Given the description of an element on the screen output the (x, y) to click on. 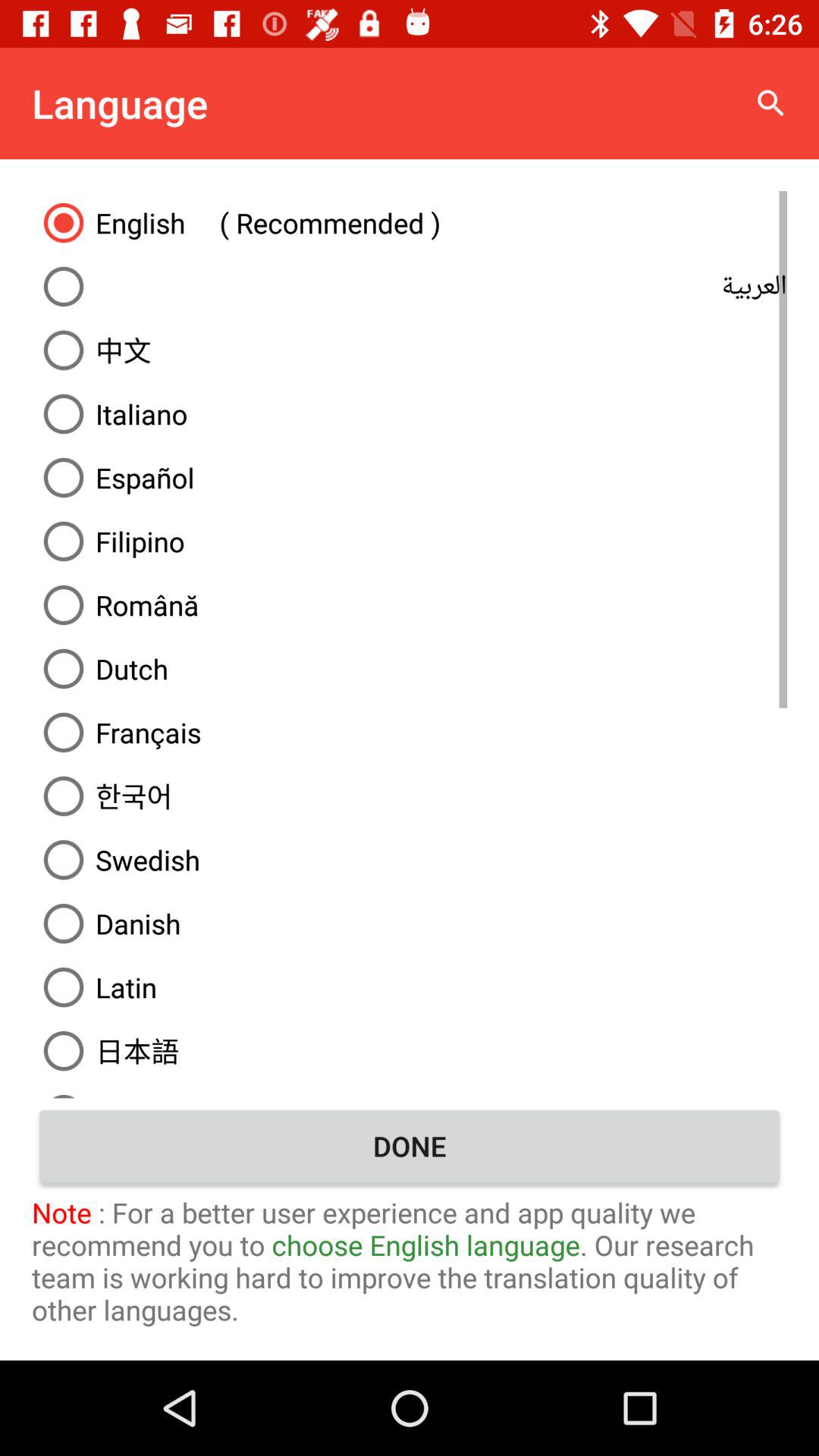
tap english     ( recommended ) item (409, 222)
